Given the description of an element on the screen output the (x, y) to click on. 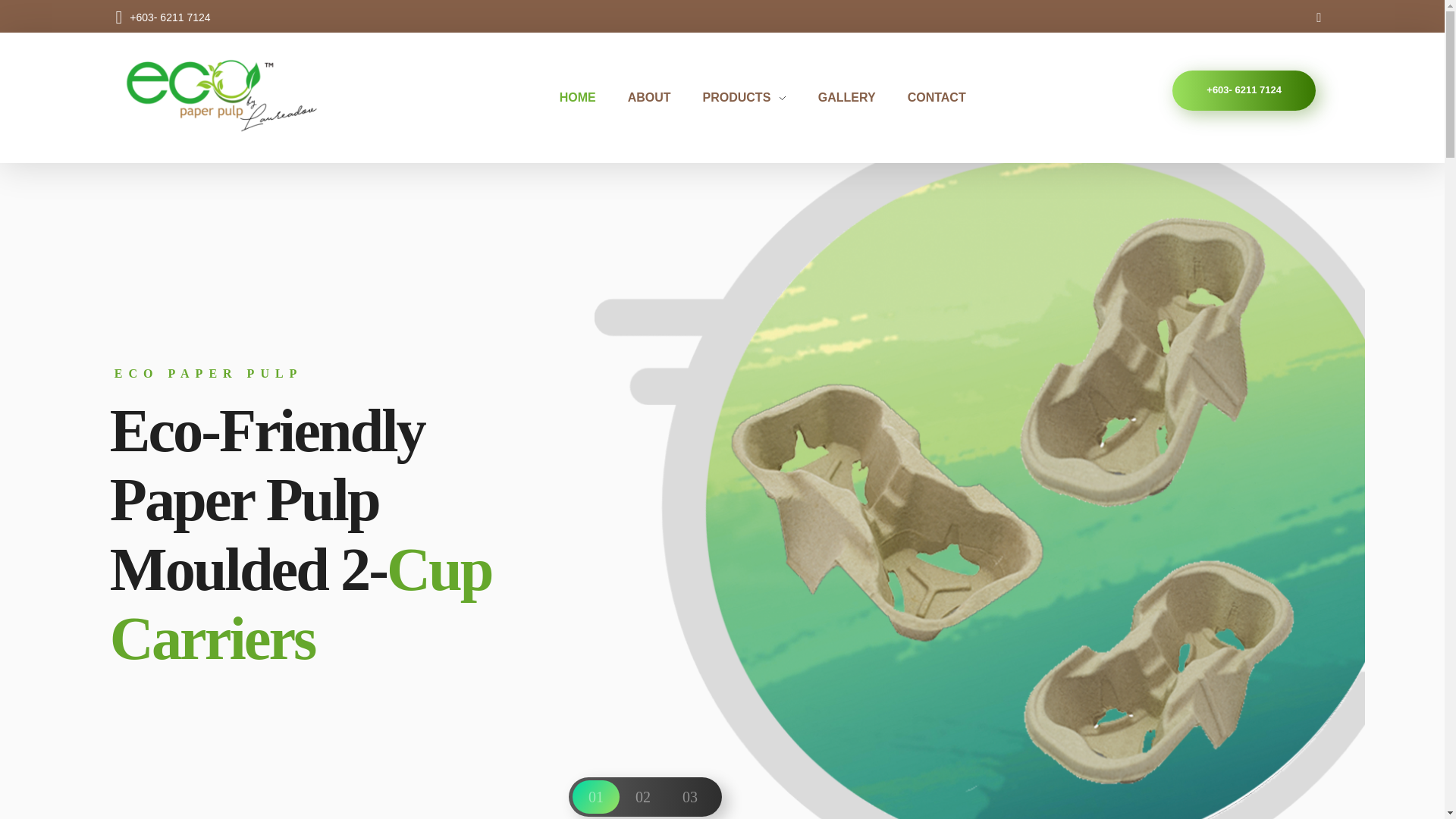
CONTACT (928, 97)
PRODUCTS (744, 97)
ABOUT (649, 97)
HOME (585, 97)
GALLERY (846, 97)
